Given the description of an element on the screen output the (x, y) to click on. 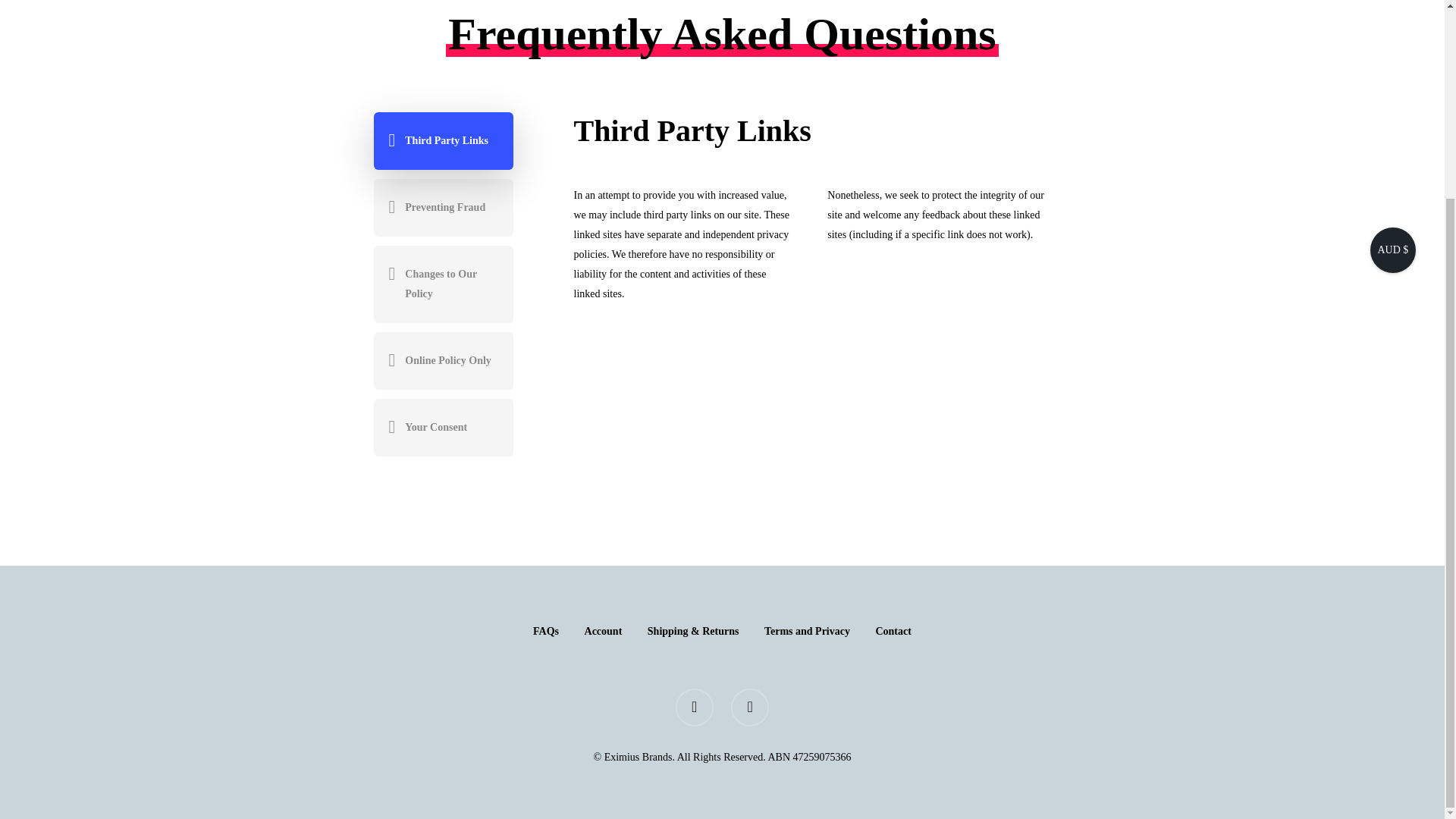
Third Party Links (442, 140)
Preventing Fraud (442, 207)
Online Policy Only (442, 360)
Changes to Our Policy (442, 283)
